Given the description of an element on the screen output the (x, y) to click on. 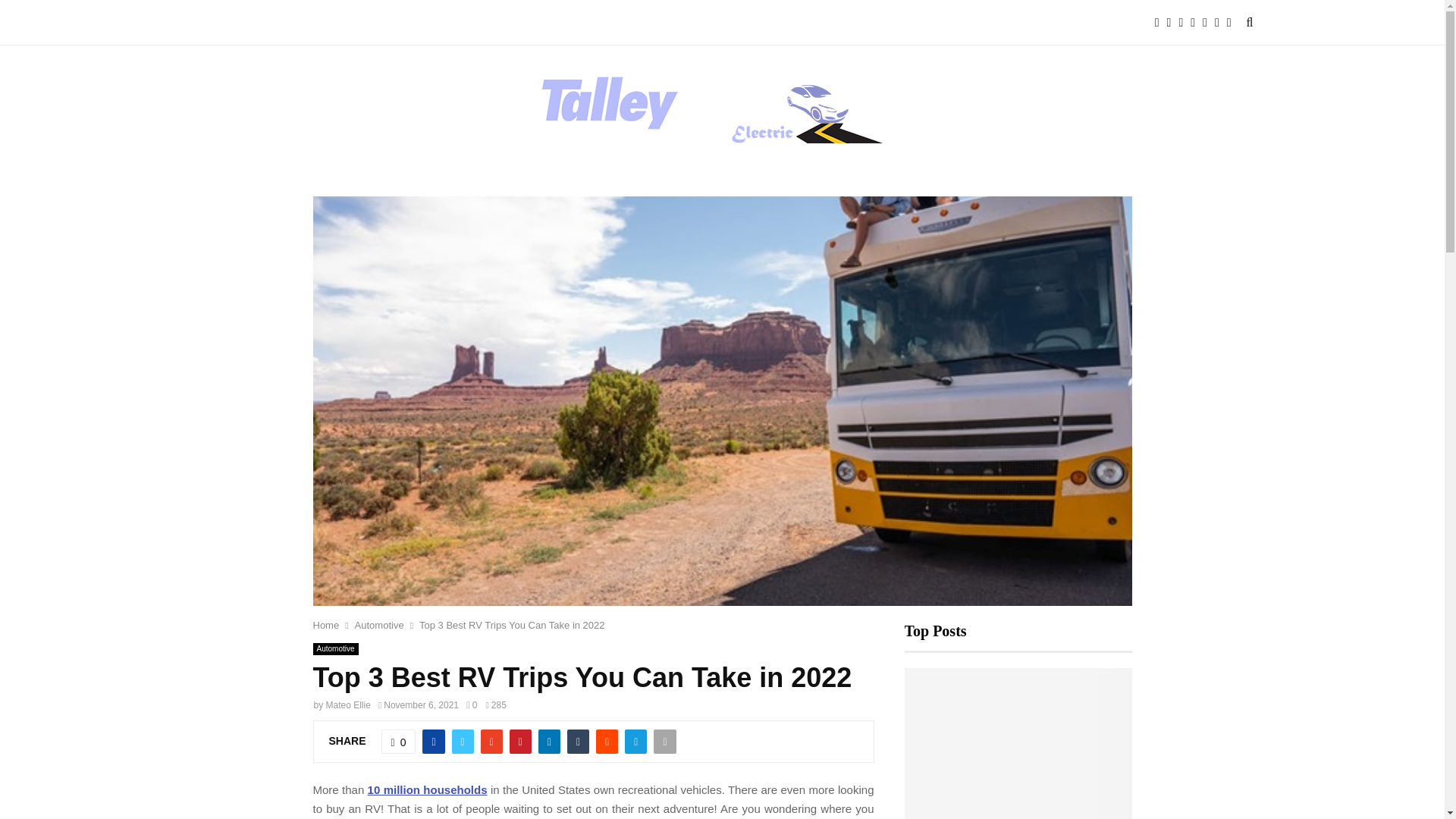
Automotive (335, 648)
CAR DEALER (410, 22)
DRIVING TIPS (598, 22)
AUTO PARTS (224, 22)
CAR SERVICE (503, 22)
Home (326, 624)
Automotive (379, 624)
0 (398, 741)
Mateo Ellie (348, 705)
AUTOMOTIVE (317, 22)
